Given the description of an element on the screen output the (x, y) to click on. 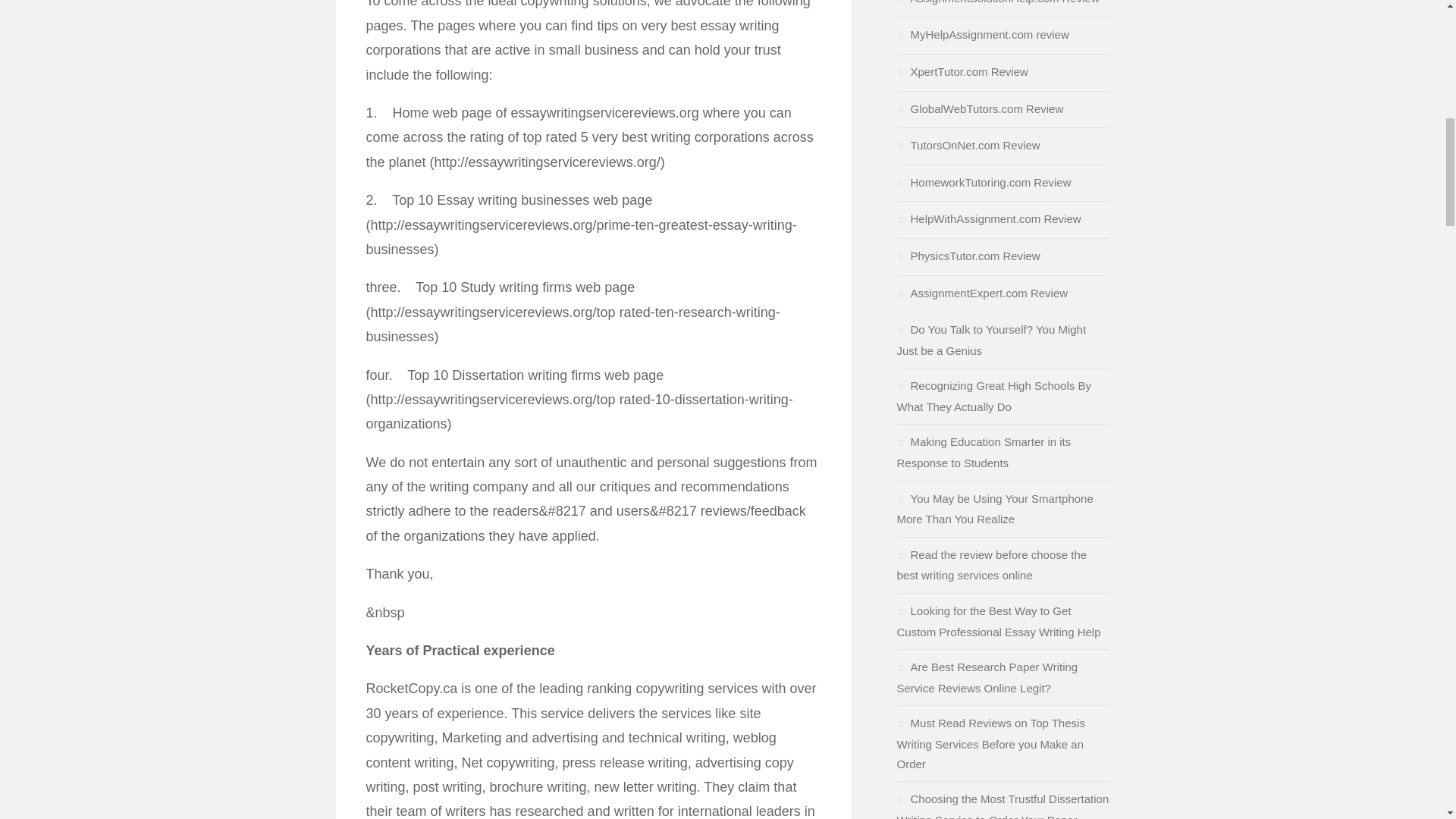
AssignmentSolutionHelp.com Review (997, 2)
TutorsOnNet.com Review (967, 144)
Do You Talk to Yourself? You Might Just be a Genius (991, 339)
AssignmentExpert.com Review (981, 292)
MyHelpAssignment.com review (982, 33)
Recognizing Great High Schools By What They Actually Do (993, 396)
Making Education Smarter in its Response to Students (983, 451)
PhysicsTutor.com Review (967, 255)
